Given the description of an element on the screen output the (x, y) to click on. 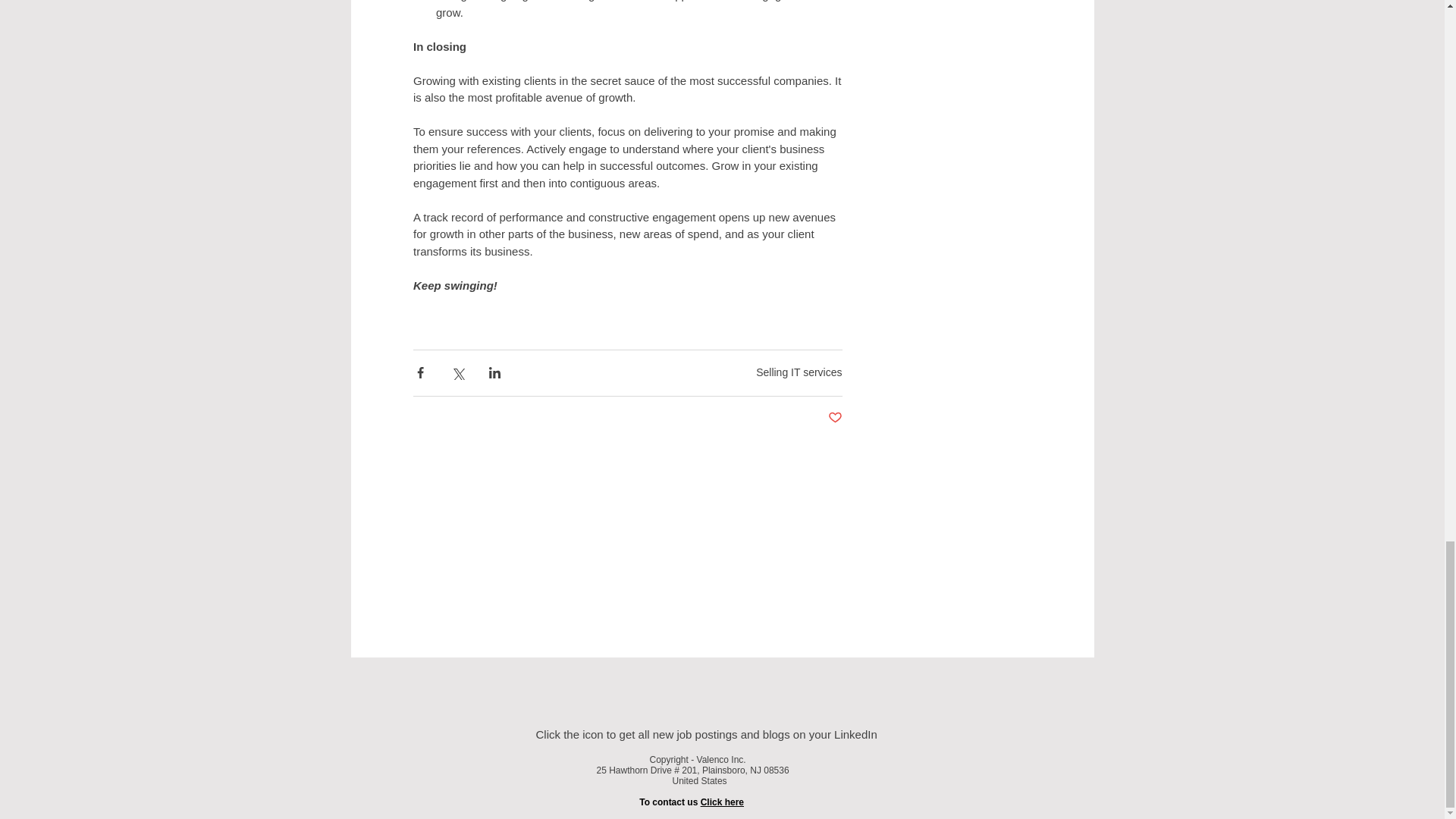
Post not marked as liked (835, 417)
Selling IT services (798, 372)
Click here (722, 801)
